Given the description of an element on the screen output the (x, y) to click on. 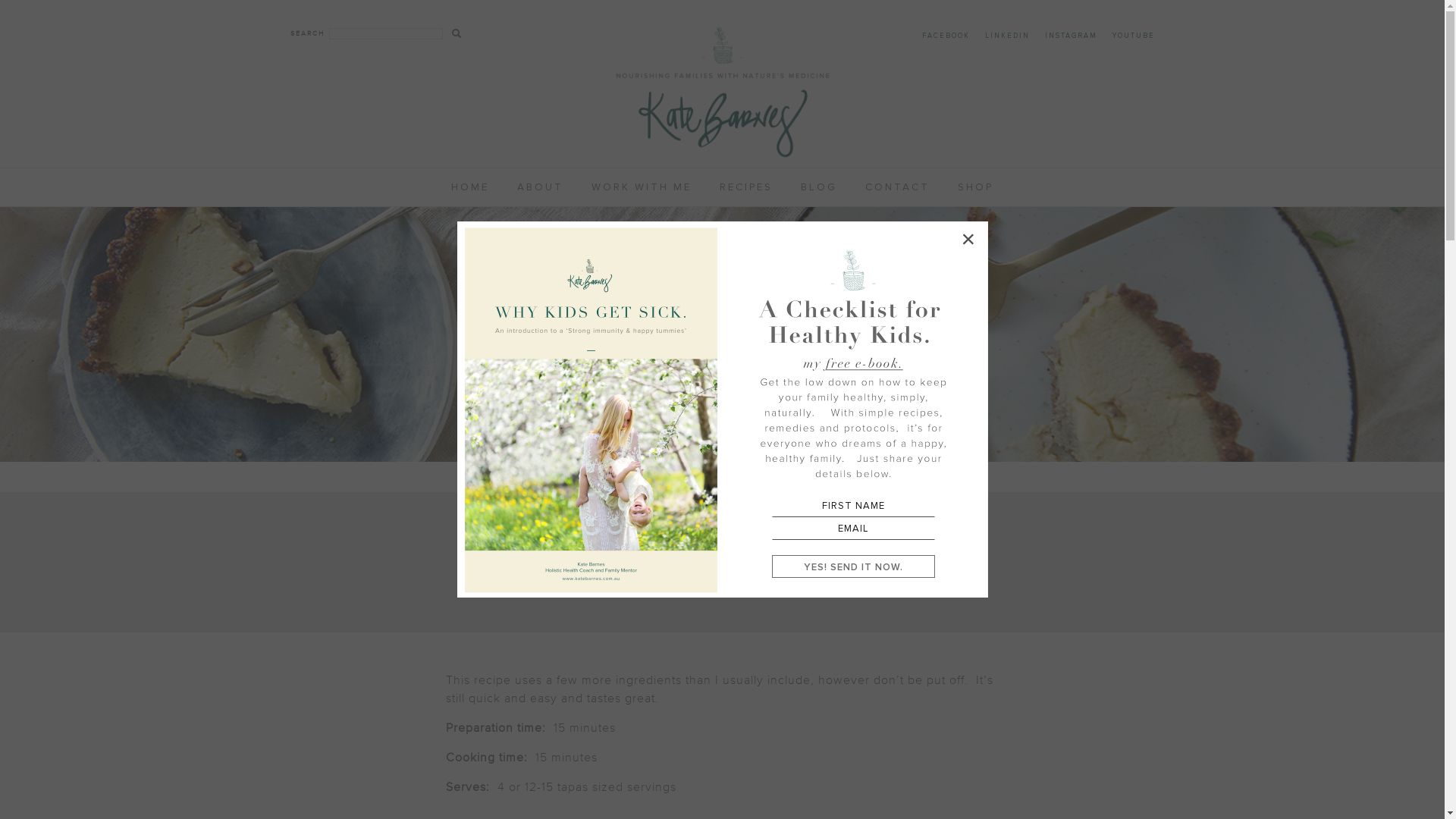
HOME Element type: text (469, 187)
CONTACT Element type: text (897, 187)
INSTAGRAM Element type: text (1070, 35)
WORK WITH ME Element type: text (640, 187)
LINKEDIN Element type: text (1006, 35)
FACEBOOK Element type: text (945, 35)
SHOP Element type: text (975, 187)
ABOUT Element type: text (539, 187)
RECIPES Element type: text (746, 187)
BLOG Element type: text (817, 187)
YOUTUBE Element type: text (1132, 35)
YES! SEND IT NOW. Element type: text (853, 567)
Kate Barnes Element type: hover (722, 91)
